Given the description of an element on the screen output the (x, y) to click on. 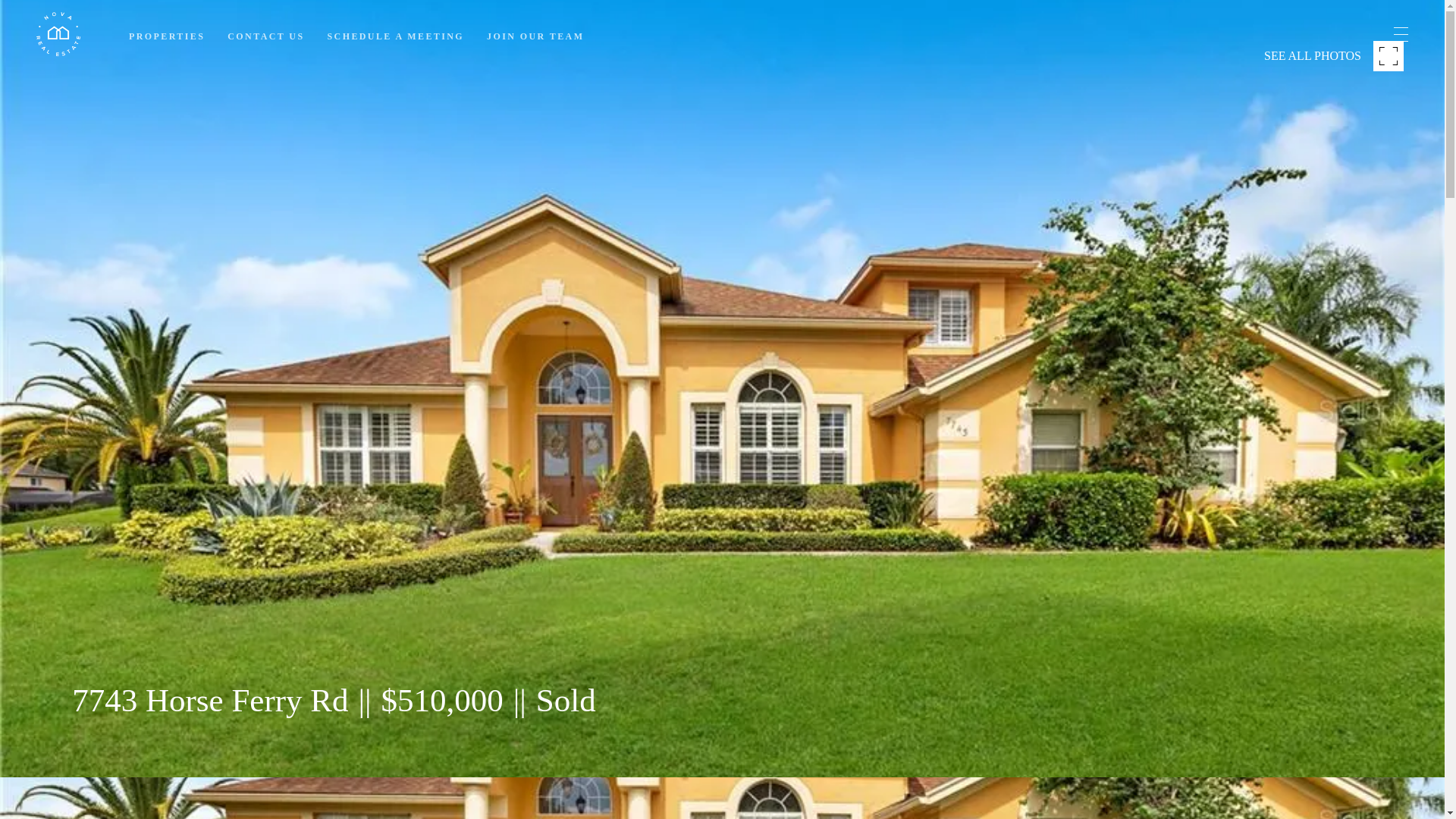
SCHEDULE A MEETING (395, 36)
CONTACT US (265, 36)
JOIN OUR TEAM (534, 36)
PROPERTIES (167, 36)
